Given the description of an element on the screen output the (x, y) to click on. 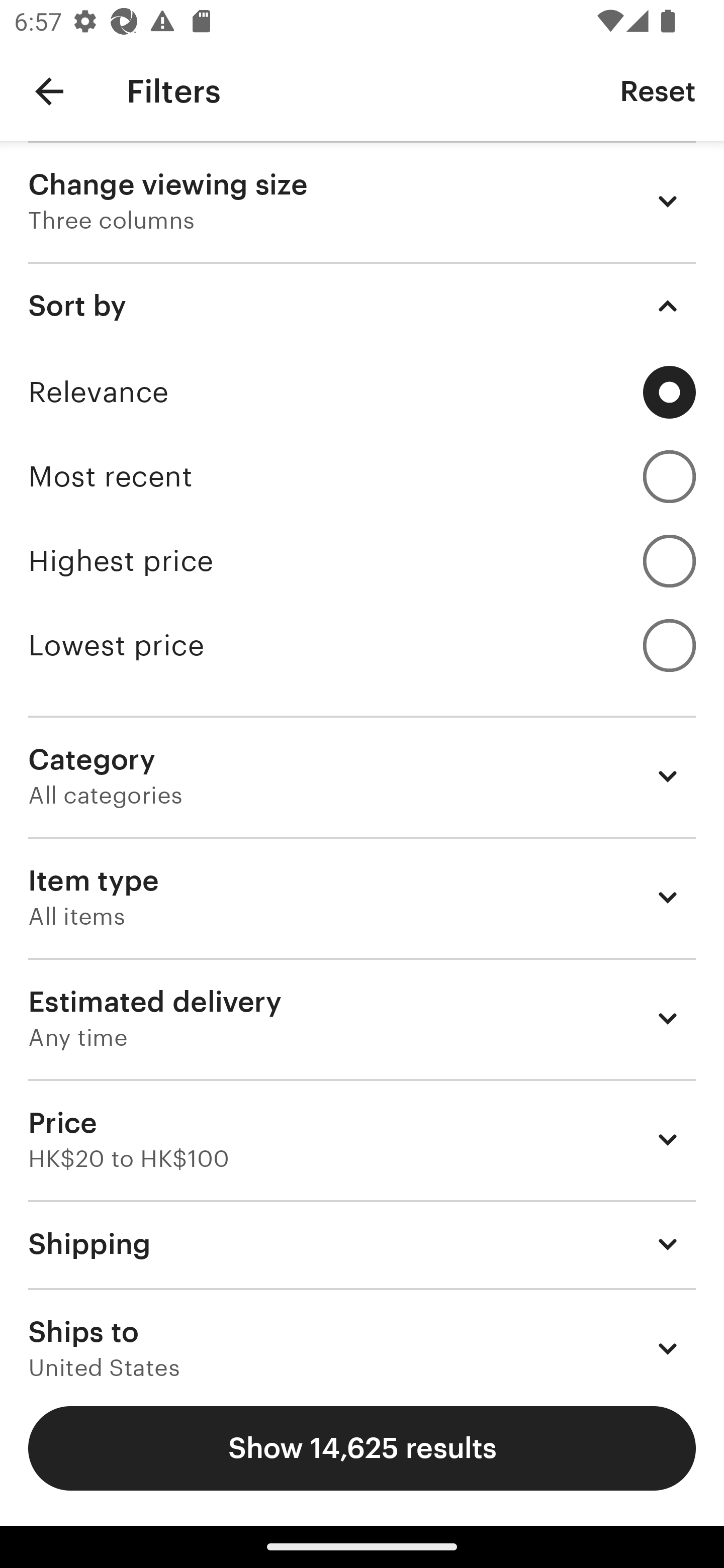
Navigate up (49, 91)
Reset (657, 90)
Change viewing size Three columns (362, 201)
Sort by (362, 305)
Relevance (362, 391)
Most recent (362, 476)
Highest price (362, 561)
Lowest price (362, 644)
Category All categories (362, 776)
Item type All items (362, 897)
Estimated delivery Any time (362, 1018)
Price HK$20 to HK$100 (362, 1138)
Shipping (362, 1243)
Ships to United States (362, 1332)
Show 14,625 results Show results (361, 1448)
